Given the description of an element on the screen output the (x, y) to click on. 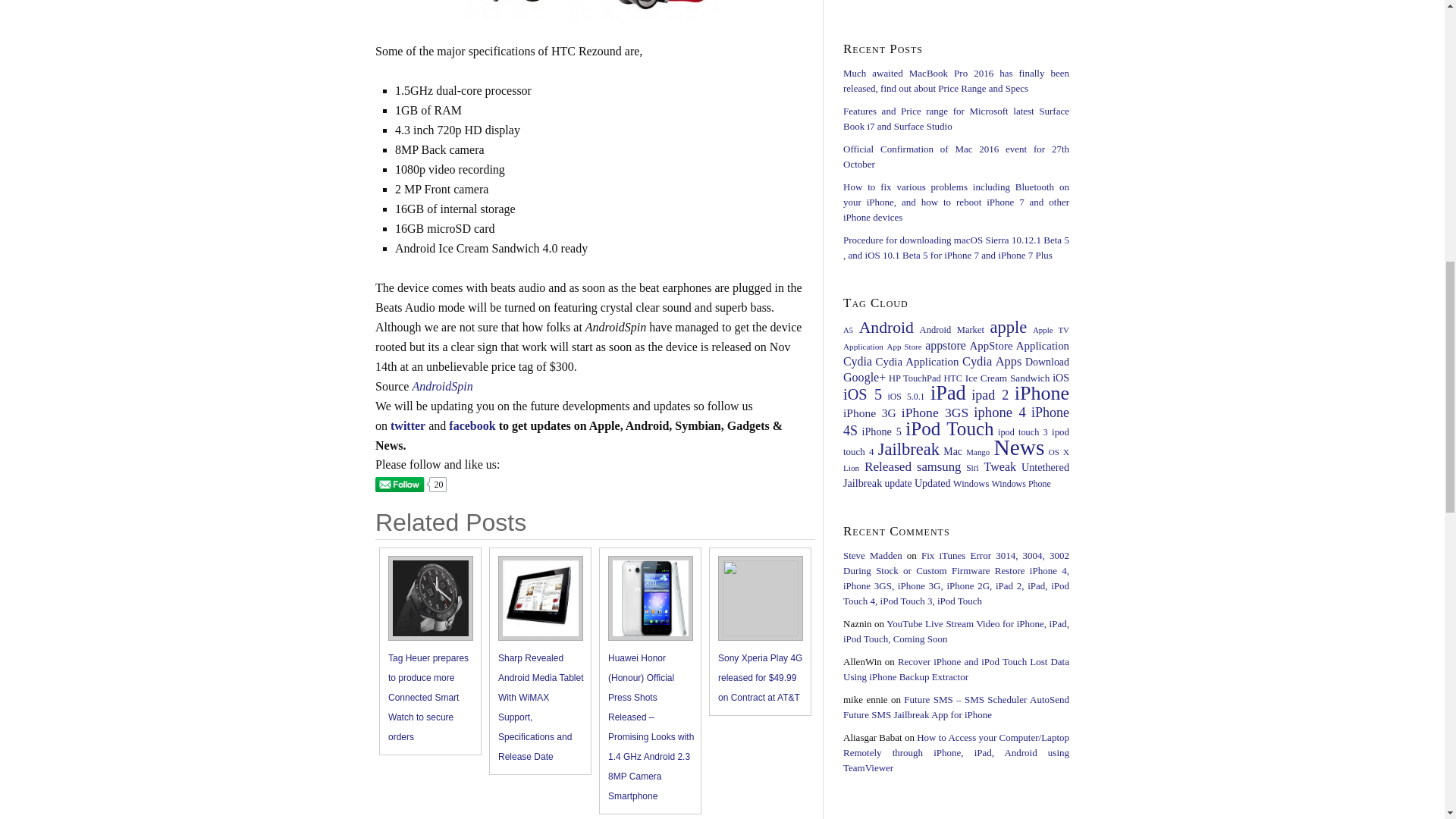
Facebook Koolmobile (471, 425)
Twitter Koolmobile (407, 425)
htc rezound (588, 11)
facebook (471, 425)
AndroidSpin (441, 386)
twitter (407, 425)
